Given the description of an element on the screen output the (x, y) to click on. 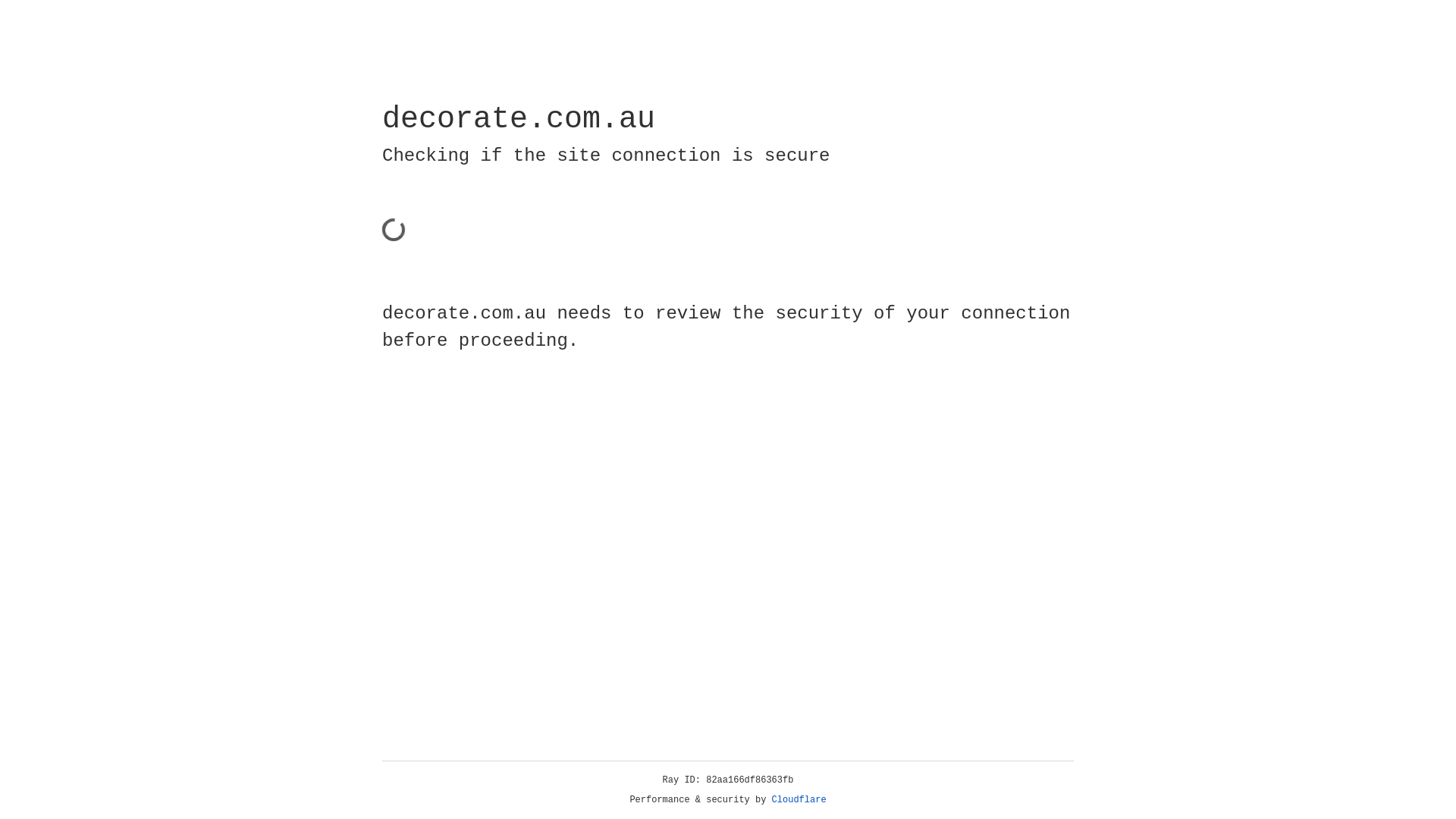
Cloudflare Element type: text (798, 799)
